Given the description of an element on the screen output the (x, y) to click on. 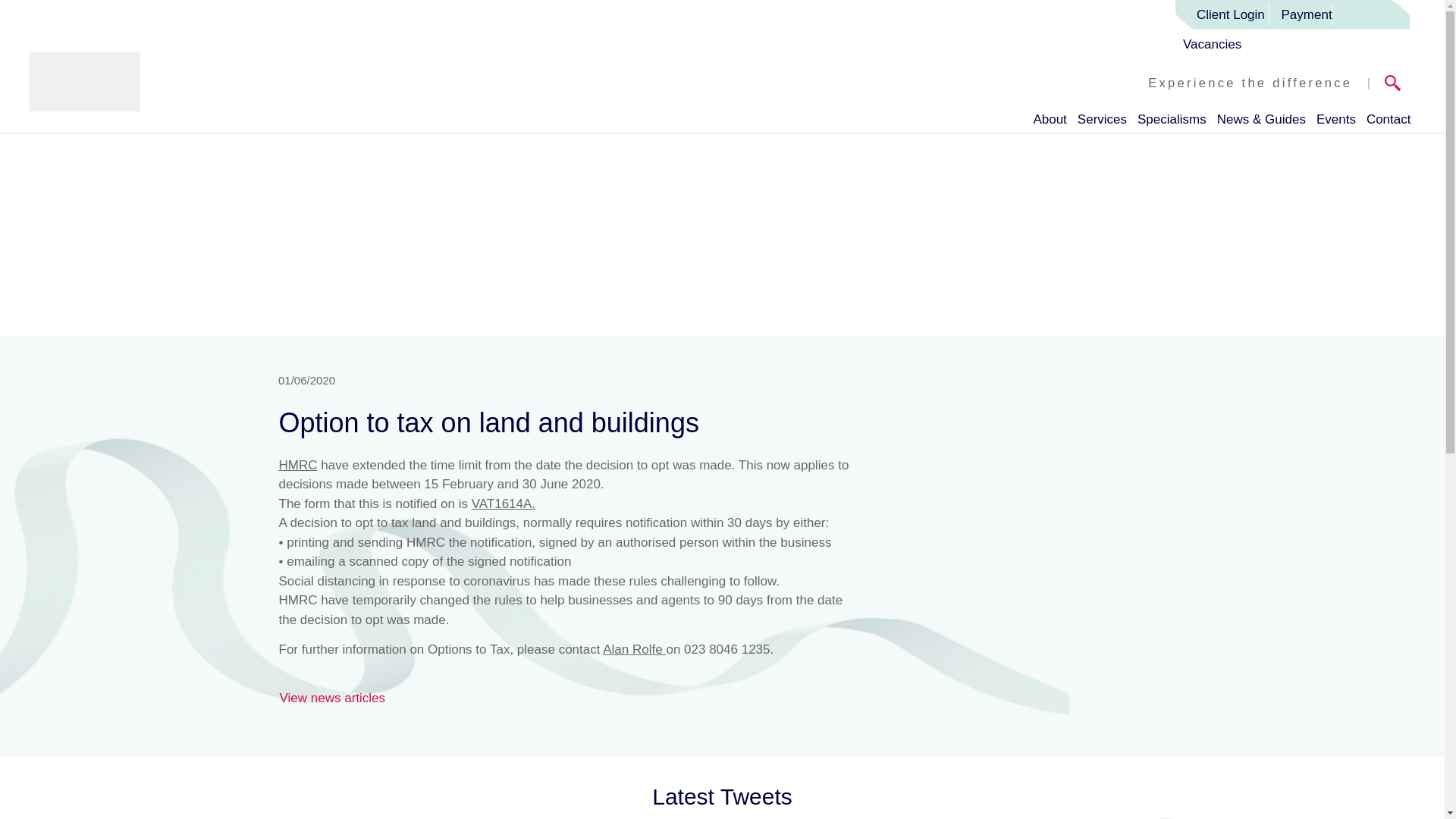
Payment (1307, 14)
About (1048, 116)
Specialisms (1172, 116)
Services (1101, 116)
Vacancies (1215, 43)
Client Login (1223, 14)
